Given the description of an element on the screen output the (x, y) to click on. 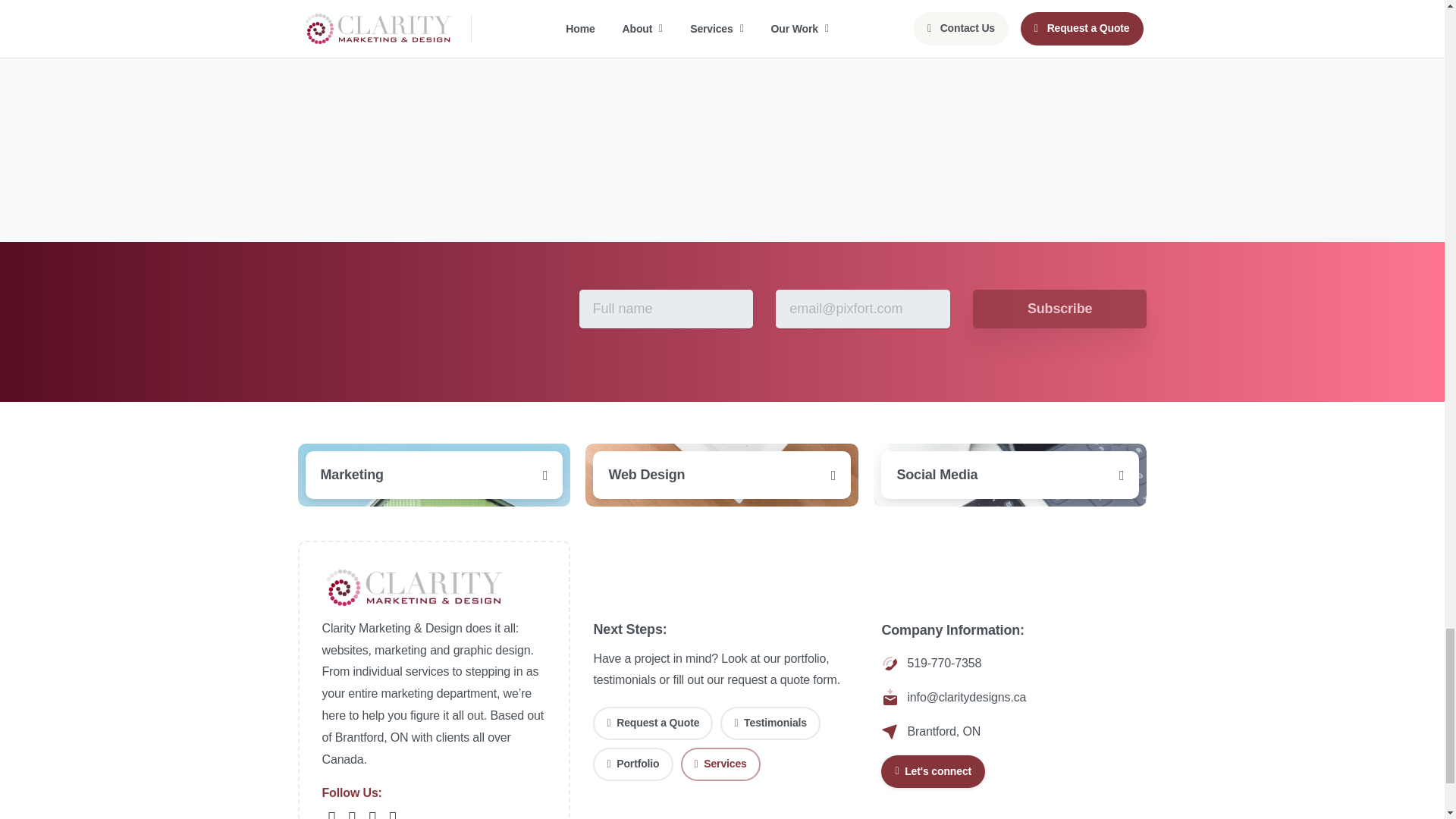
Subscribe (1059, 308)
